Given the description of an element on the screen output the (x, y) to click on. 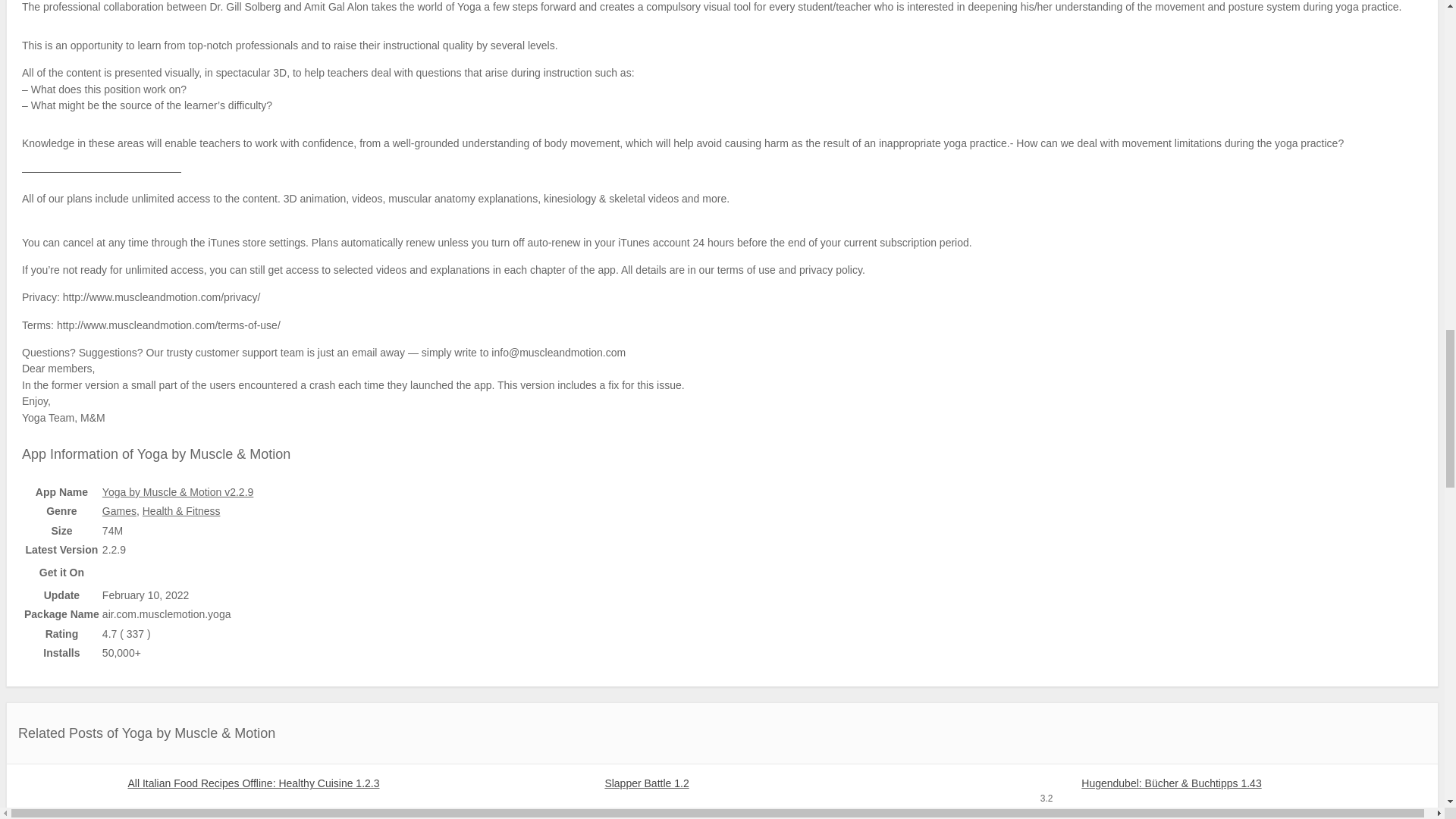
Games (118, 510)
All Italian Food Recipes Offline: Healthy Cuisine 1.2.3 (244, 783)
Slapper Battle 1.2 (722, 783)
